Given the description of an element on the screen output the (x, y) to click on. 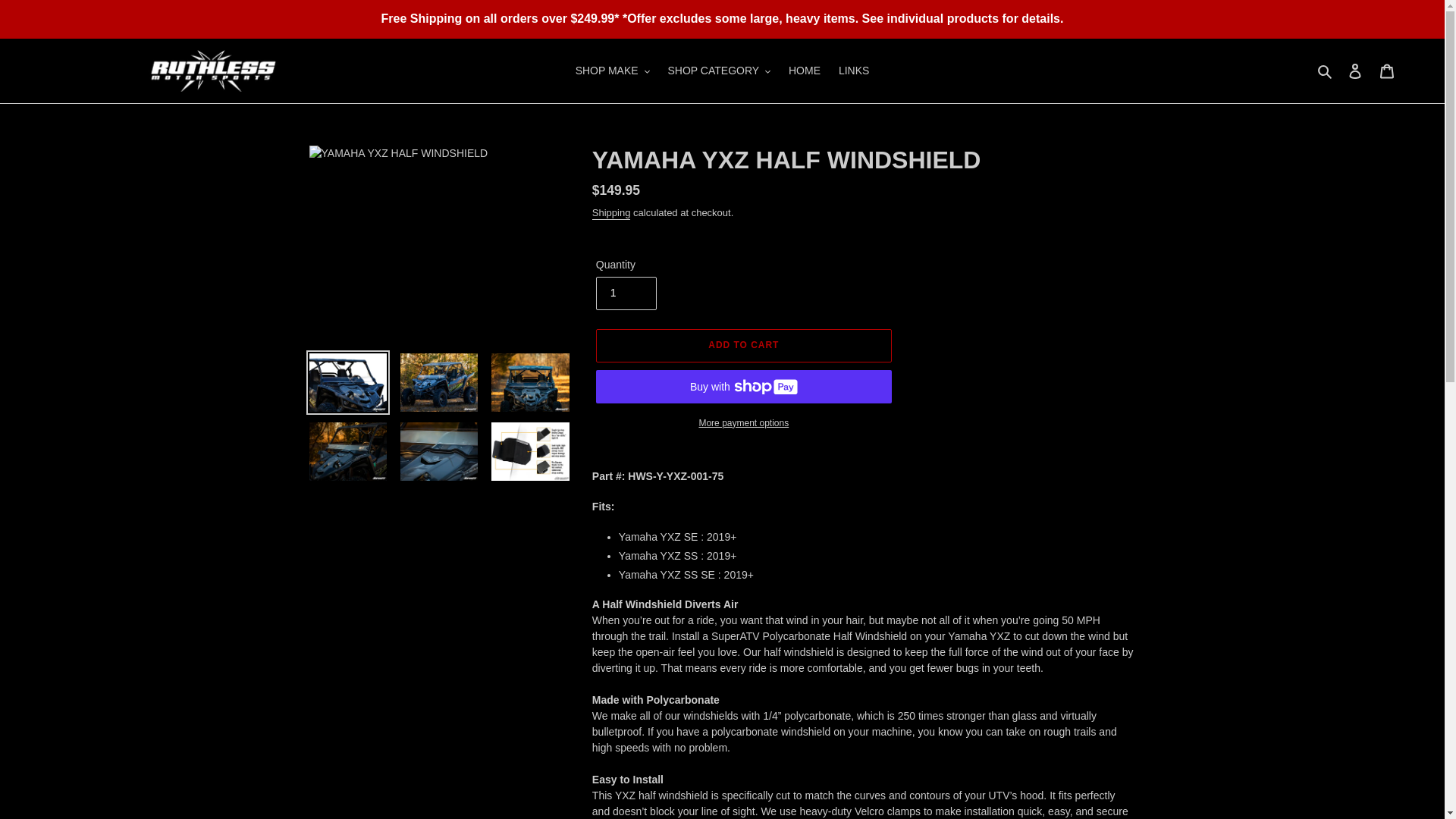
1 (625, 293)
SHOP MAKE (612, 70)
